Given the description of an element on the screen output the (x, y) to click on. 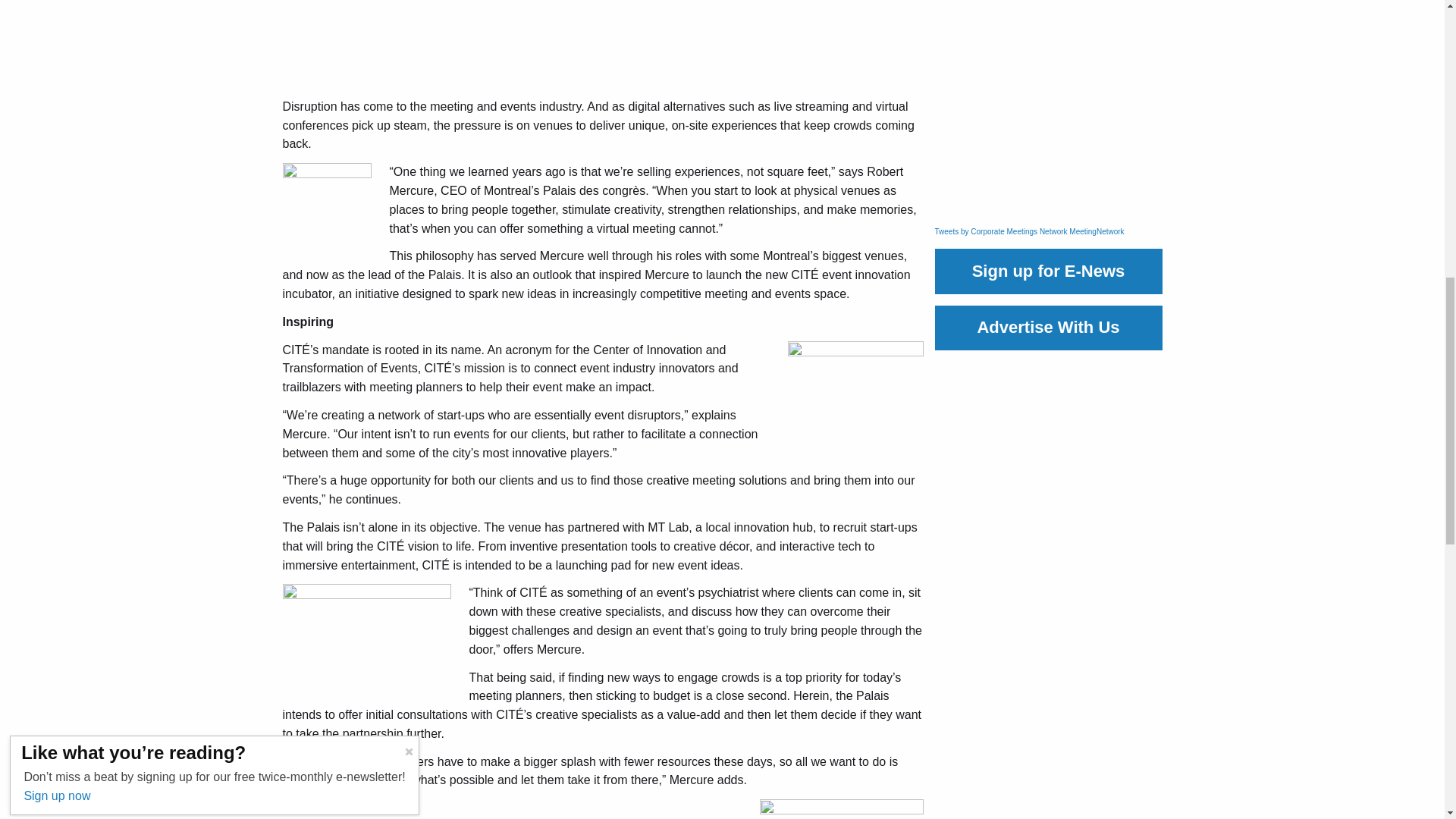
3rd party ad content (1047, 112)
